Given the description of an element on the screen output the (x, y) to click on. 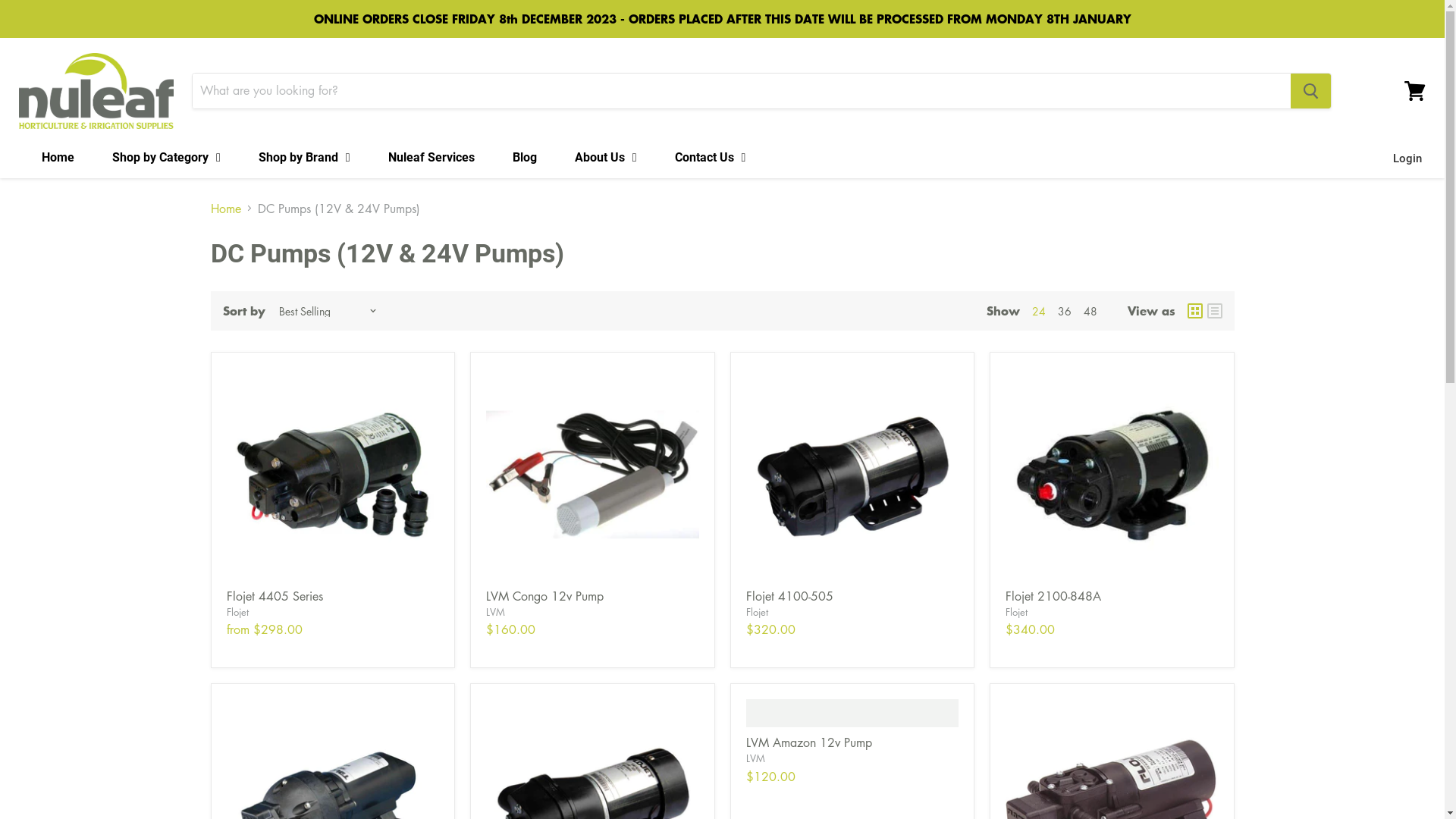
Login Element type: text (1406, 158)
Shop by Category Element type: text (162, 157)
Flojet 2100-848A Element type: text (1053, 595)
36 Element type: text (1063, 310)
LVM Amazon 12v Pump Element type: text (809, 742)
Flojet 4100-505 Element type: text (789, 595)
24 Element type: text (1037, 310)
Home Element type: text (53, 157)
Blog Element type: text (520, 157)
About Us Element type: text (602, 157)
Contact Us Element type: text (706, 157)
Nuleaf Services Element type: text (427, 157)
Shop by Brand Element type: text (300, 157)
Send Element type: text (428, 384)
View cart Element type: text (1414, 89)
Flojet 4405 Series Element type: text (273, 595)
Home Element type: text (225, 208)
LVM Congo 12v Pump Element type: text (544, 595)
48 Element type: text (1089, 310)
